Given the description of an element on the screen output the (x, y) to click on. 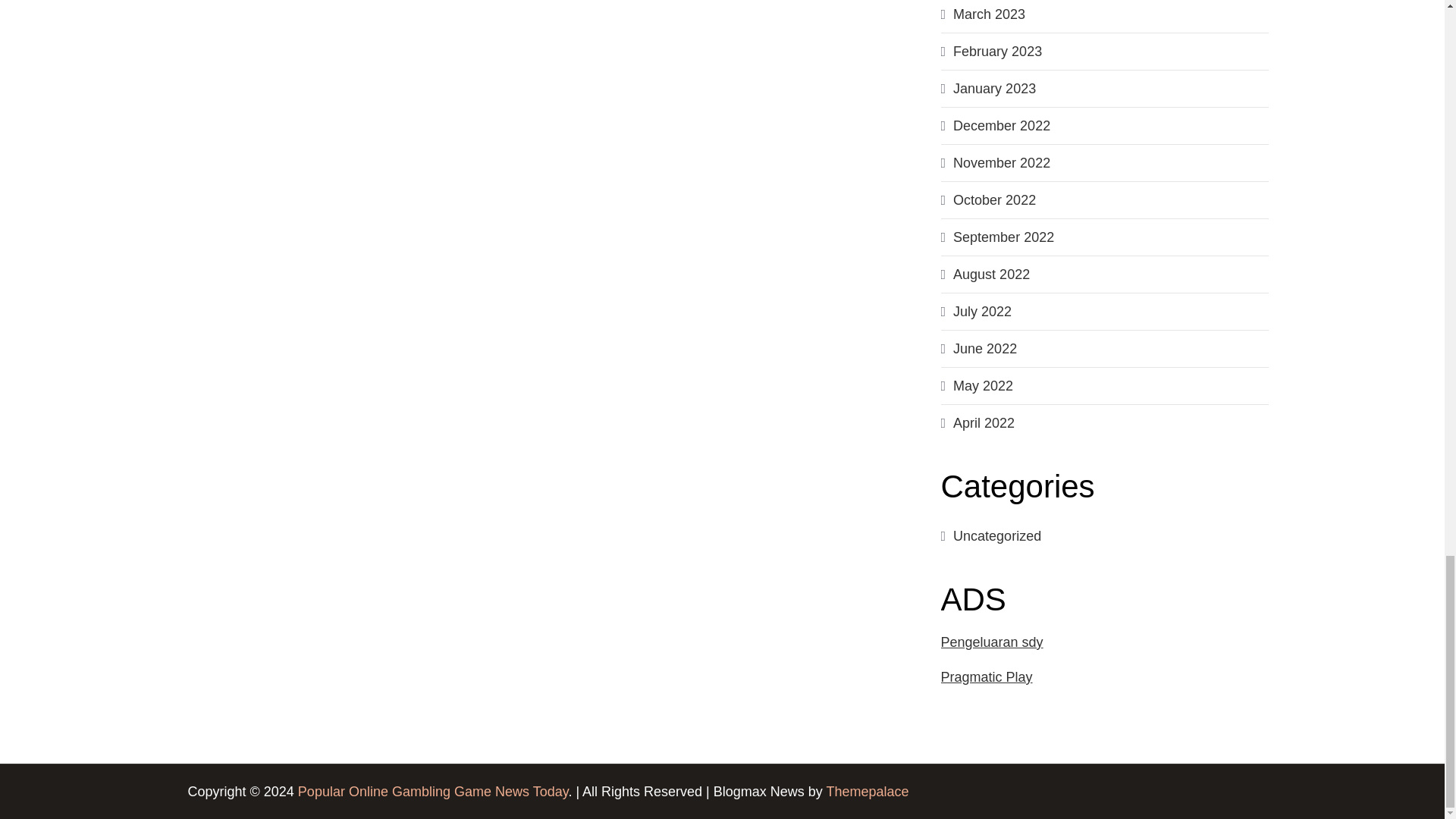
January 2023 (994, 88)
December 2022 (1001, 125)
March 2023 (989, 14)
February 2023 (997, 51)
